Given the description of an element on the screen output the (x, y) to click on. 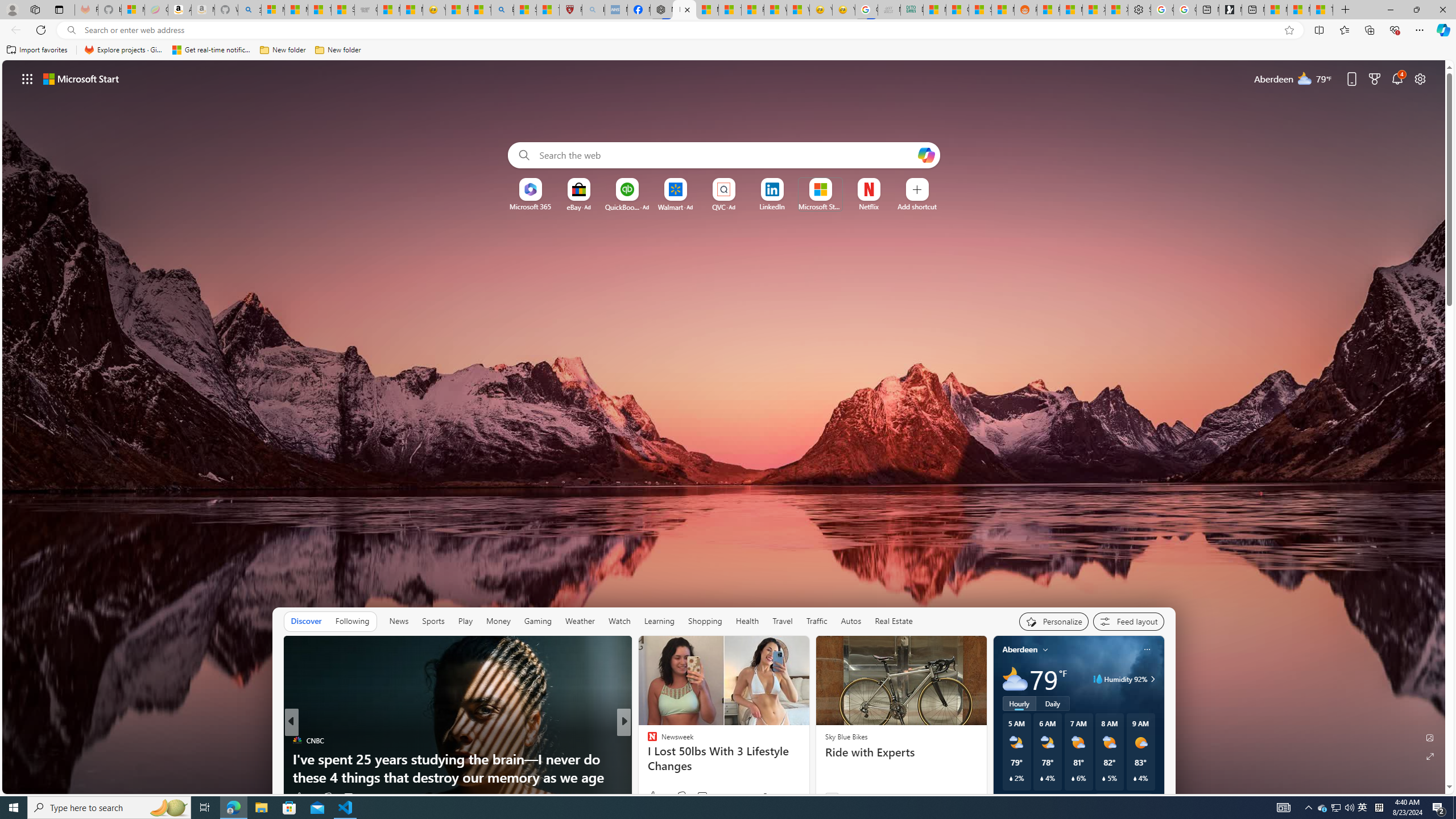
Class: weather-arrow-glyph (1152, 678)
Daily (1052, 703)
The Hearty Soul (647, 740)
77 Like (652, 796)
Search icon (70, 29)
